Given the description of an element on the screen output the (x, y) to click on. 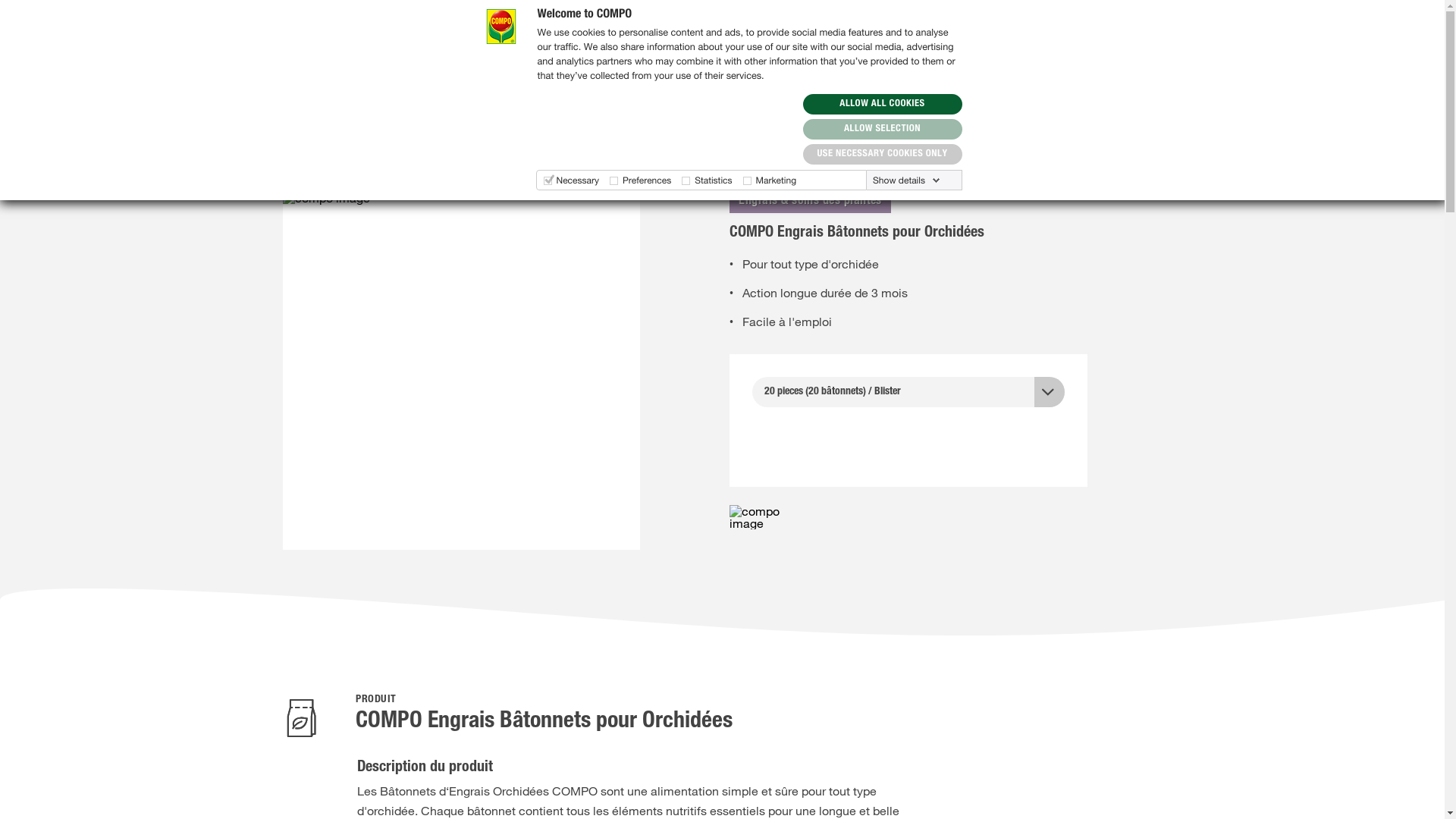
Produits Element type: text (327, 158)
Show details Element type: text (906, 180)
NL Element type: text (1124, 25)
ALLOW SELECTION Element type: text (882, 129)
USE NECESSARY COOKIES ONLY Element type: text (882, 154)
COMPO Element type: text (292, 158)
Engrais & soins des plantes Element type: text (414, 158)
ALLOW ALL COOKIES Element type: text (882, 104)
FR Element type: text (1155, 25)
